Given the description of an element on the screen output the (x, y) to click on. 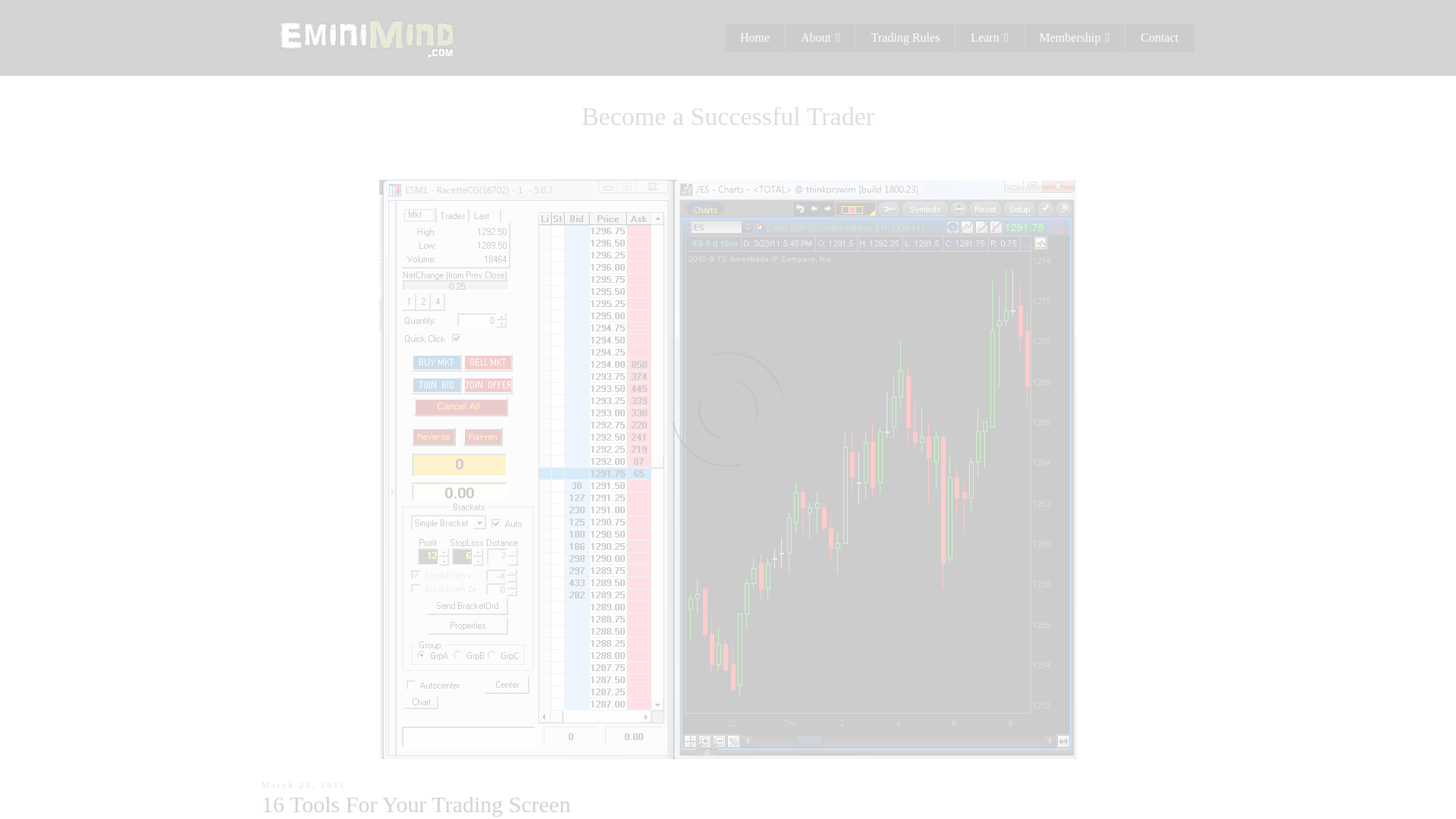
Learn (989, 38)
Membership (1075, 38)
Trading Rules (906, 38)
Contact (1159, 38)
About (821, 38)
EminiMind (367, 36)
